Given the description of an element on the screen output the (x, y) to click on. 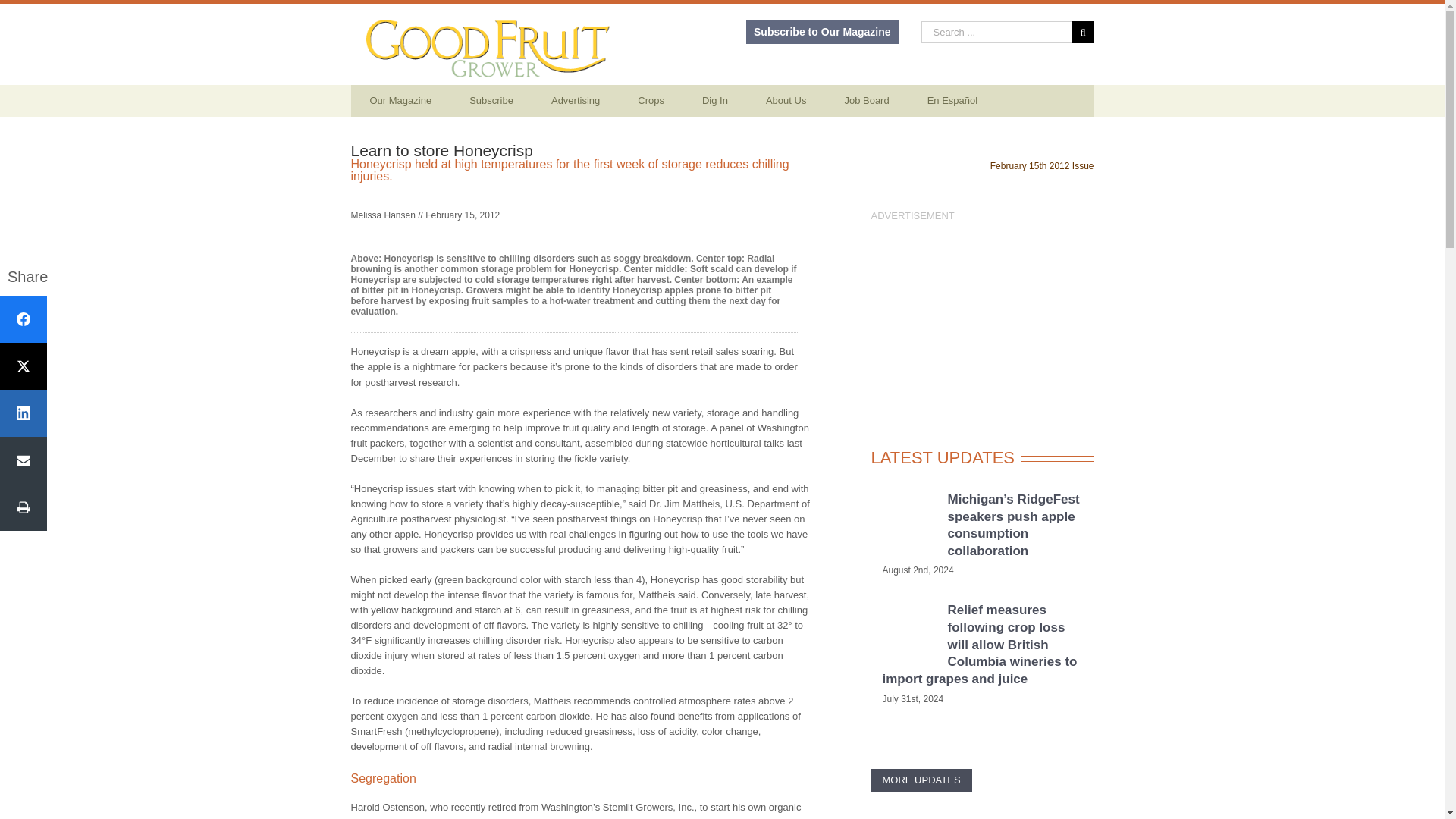
Dig In (714, 101)
Advertising (575, 101)
Our Magazine (400, 101)
Subscribe to Our Magazine (821, 31)
Subscribe (490, 101)
Crops (650, 101)
About Us (785, 101)
